Given the description of an element on the screen output the (x, y) to click on. 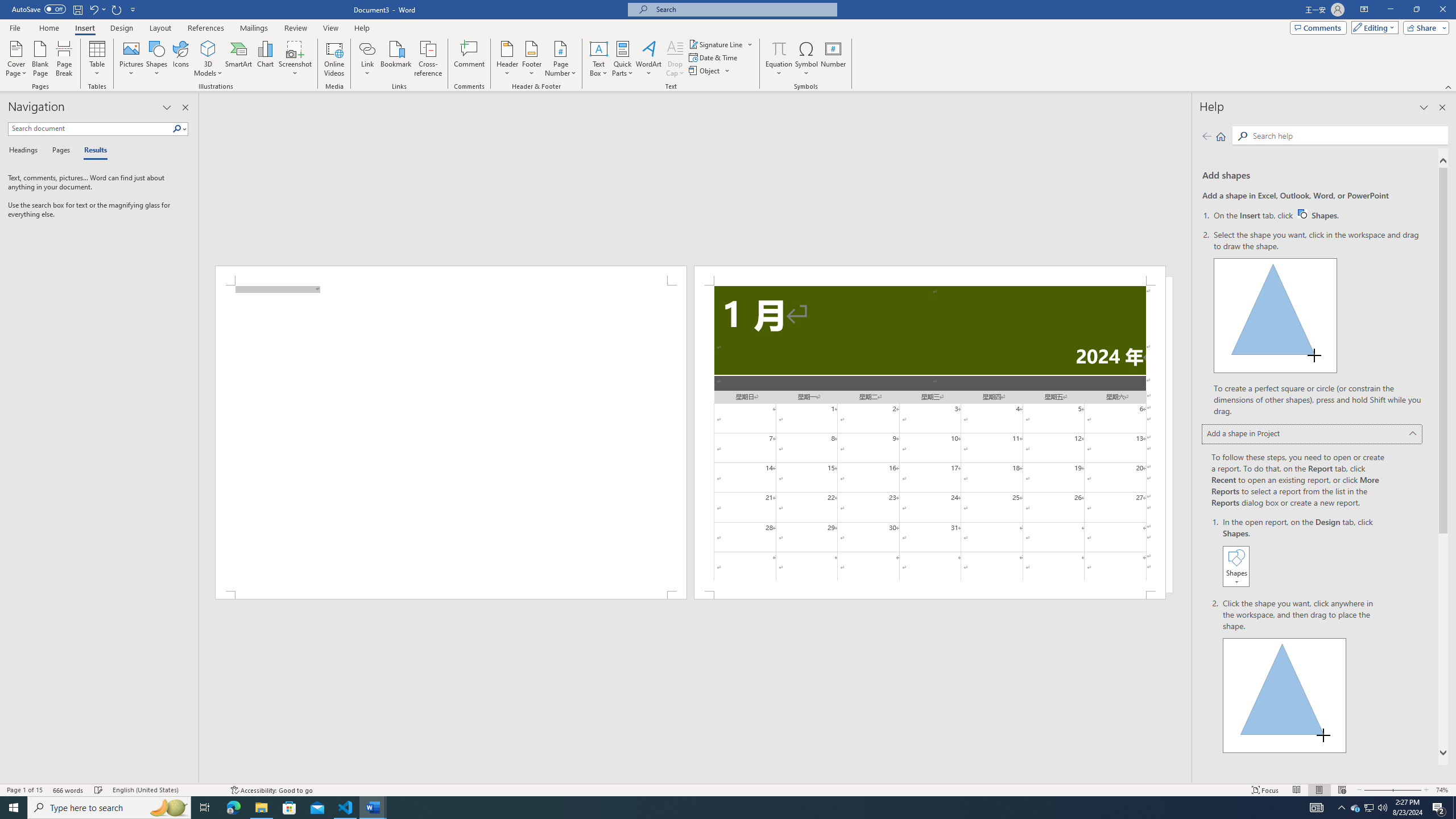
Word W32 Shapes button icon (1302, 213)
Bookmark... (396, 58)
